Given the description of an element on the screen output the (x, y) to click on. 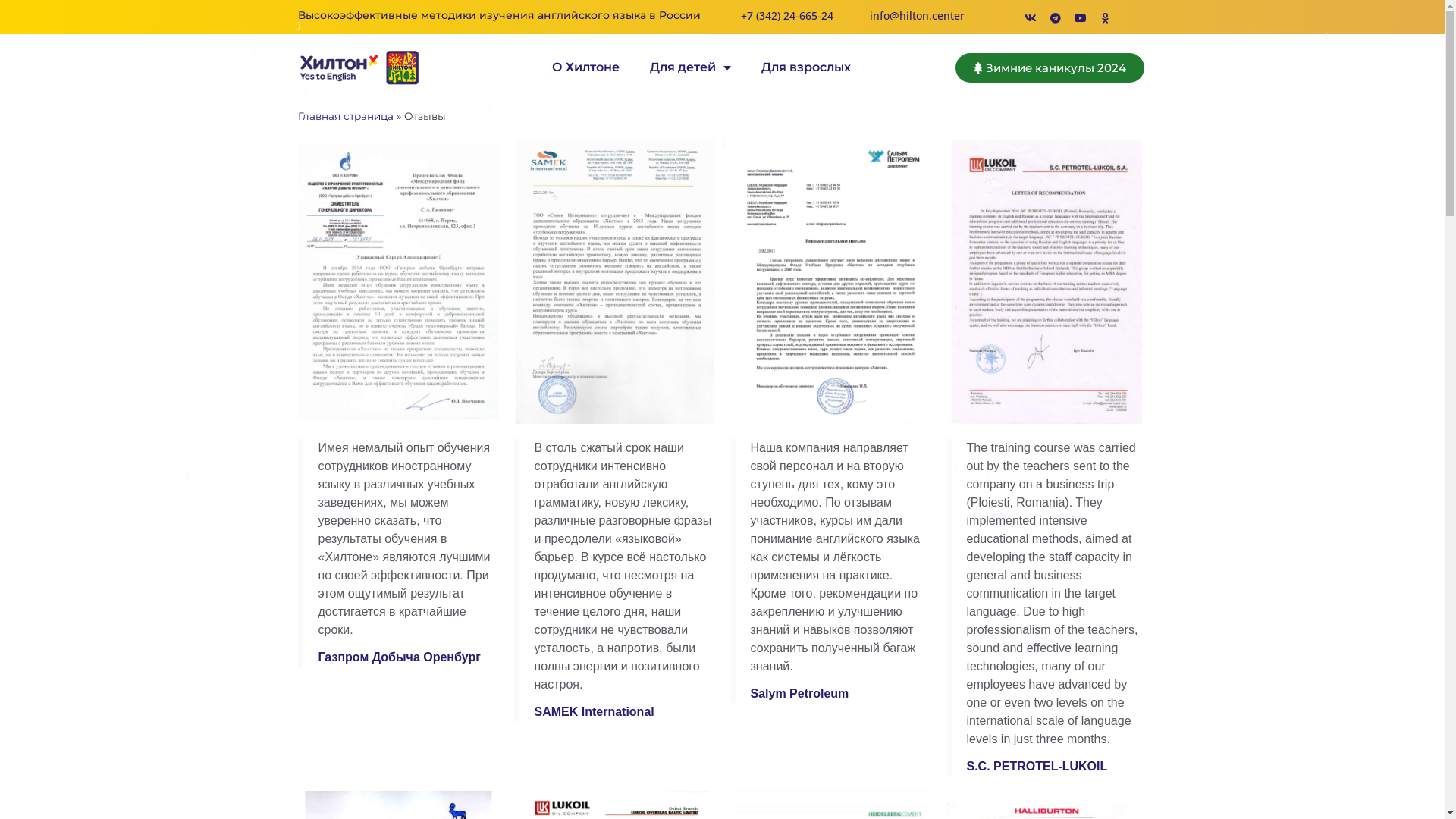
+7 (342) 24-665-24 Element type: text (786, 15)
info@hilton.center Element type: text (916, 15)
